Given the description of an element on the screen output the (x, y) to click on. 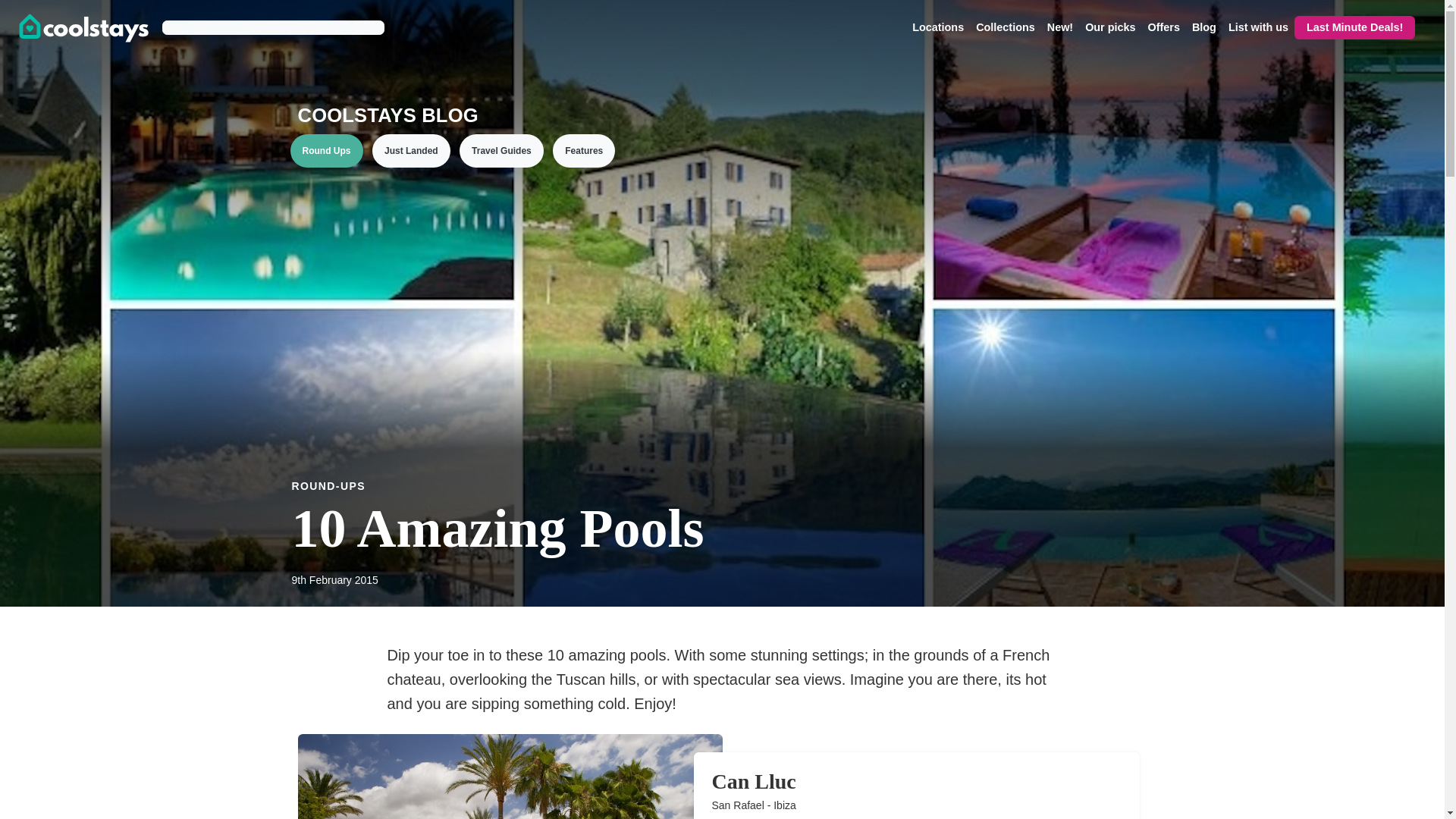
COOLSTAYS BLOG (452, 115)
List with us (1258, 27)
Just Landed (410, 150)
Our picks (1109, 27)
Last Minute Deals! (1354, 27)
Blog (1204, 27)
refine (1238, 649)
Offers (1163, 27)
New! (1059, 27)
Collections (1005, 27)
